Given the description of an element on the screen output the (x, y) to click on. 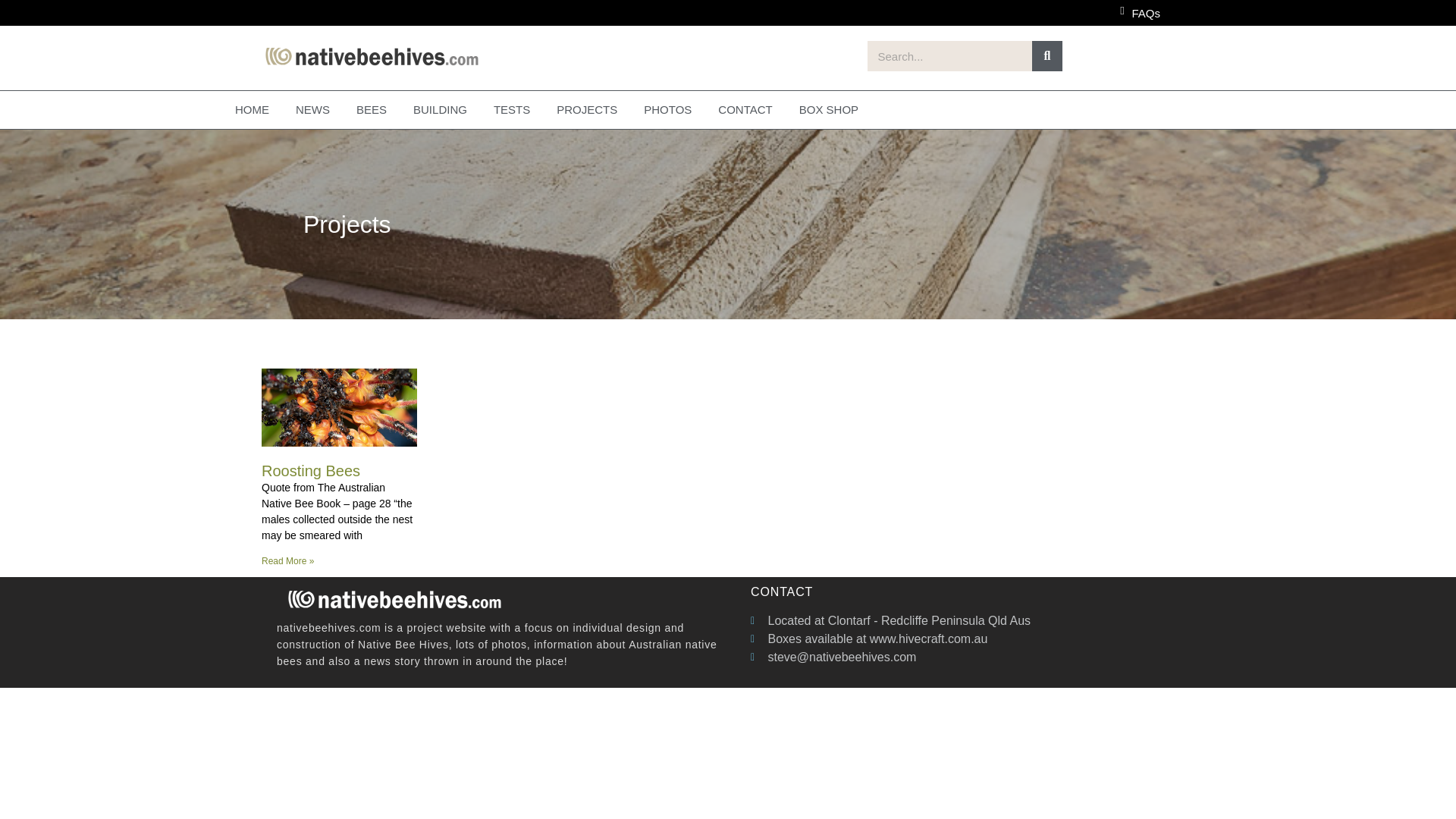
FAQs (1145, 11)
